Given the description of an element on the screen output the (x, y) to click on. 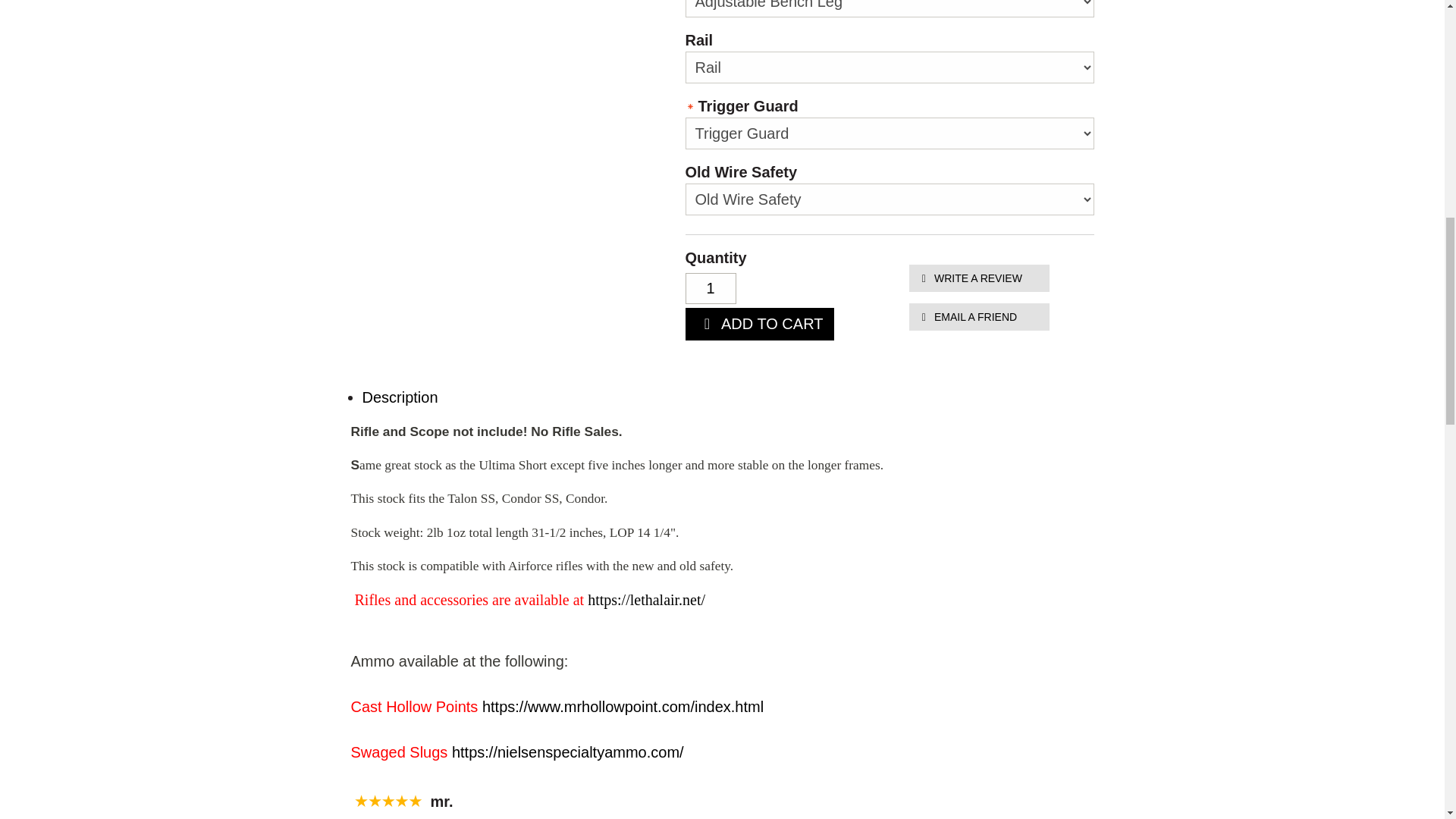
WRITE A REVIEW (978, 277)
EMAIL A FRIEND (978, 316)
ADD TO CART (759, 323)
Description (400, 397)
1 (710, 287)
